Given the description of an element on the screen output the (x, y) to click on. 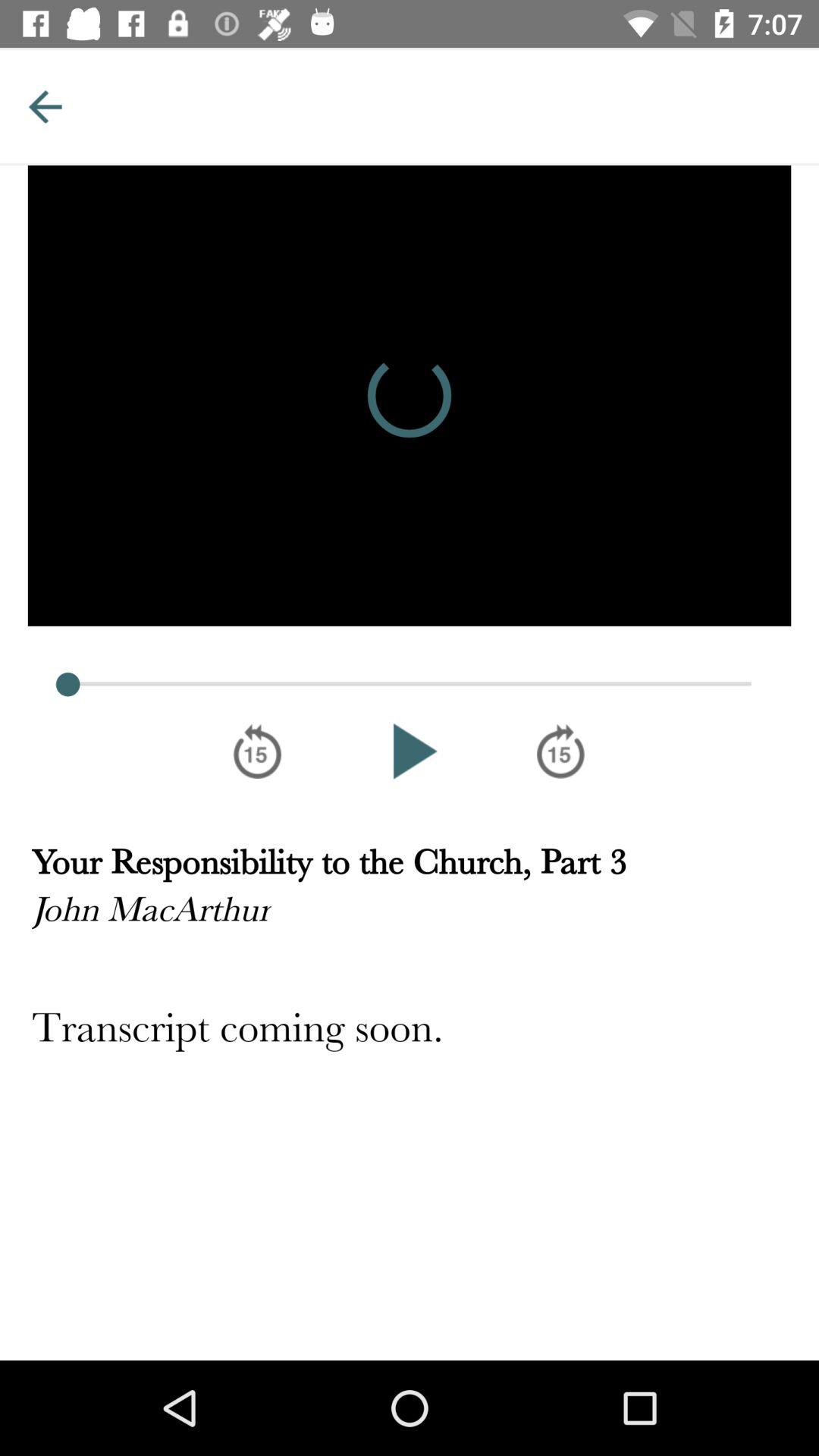
play video (409, 751)
